Given the description of an element on the screen output the (x, y) to click on. 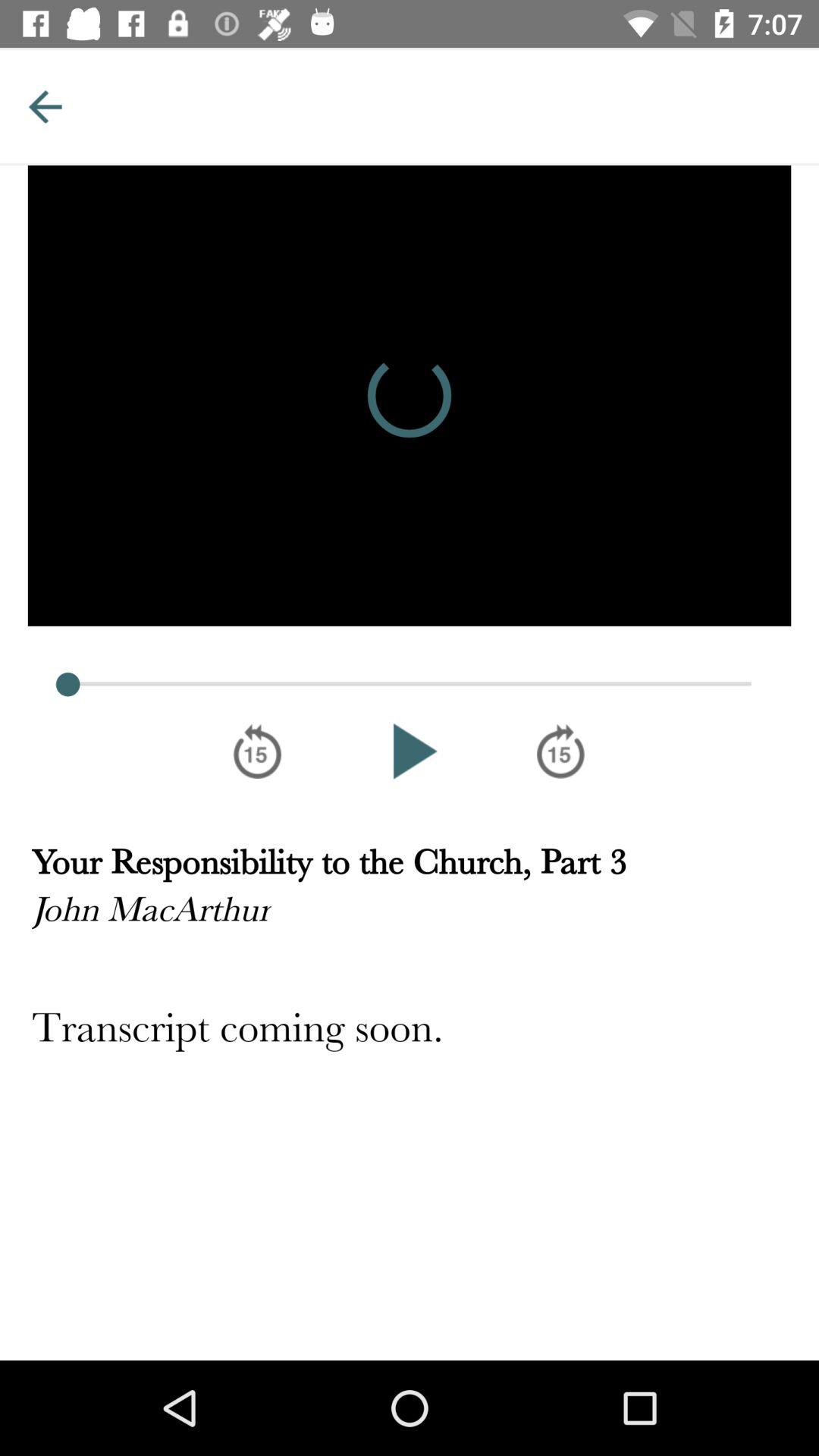
play video (409, 751)
